Given the description of an element on the screen output the (x, y) to click on. 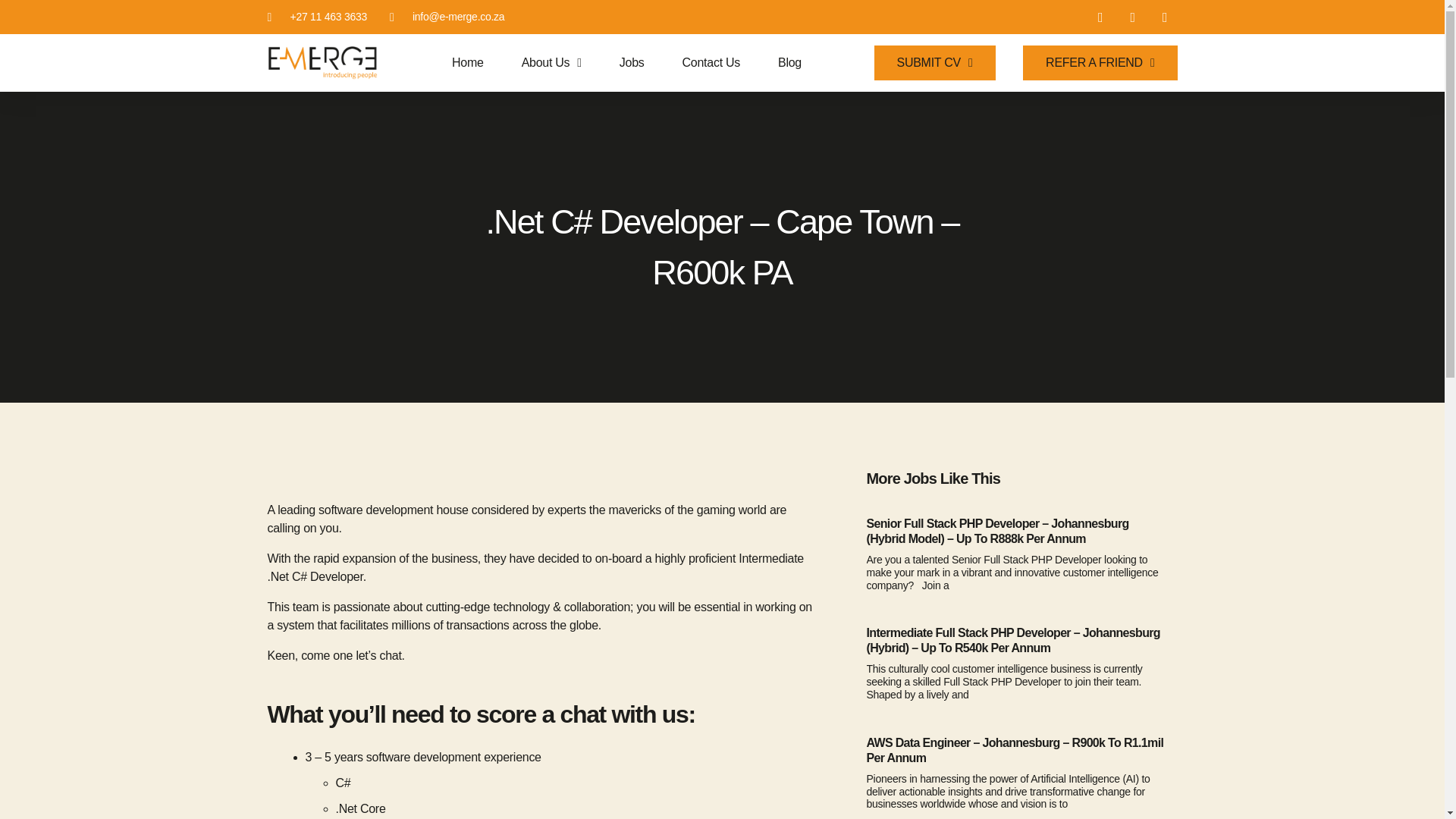
Home (467, 62)
Jobs (632, 62)
Contact Us (710, 62)
REFER A FRIEND (1099, 62)
SUBMIT CV (935, 62)
Blog (789, 62)
About Us (550, 62)
